Given the description of an element on the screen output the (x, y) to click on. 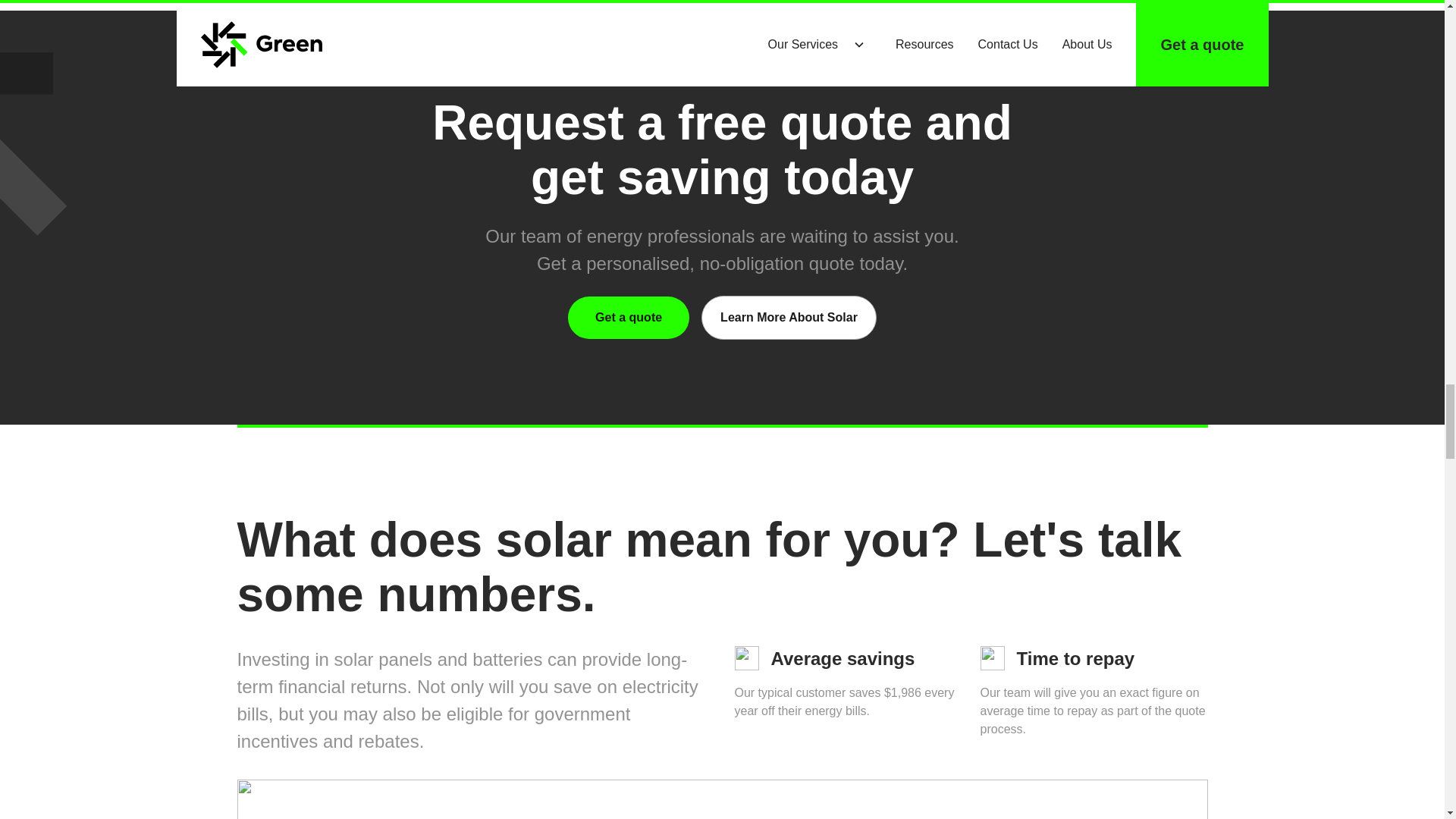
Get a quote (627, 317)
Learn More About Solar (788, 317)
